Given the description of an element on the screen output the (x, y) to click on. 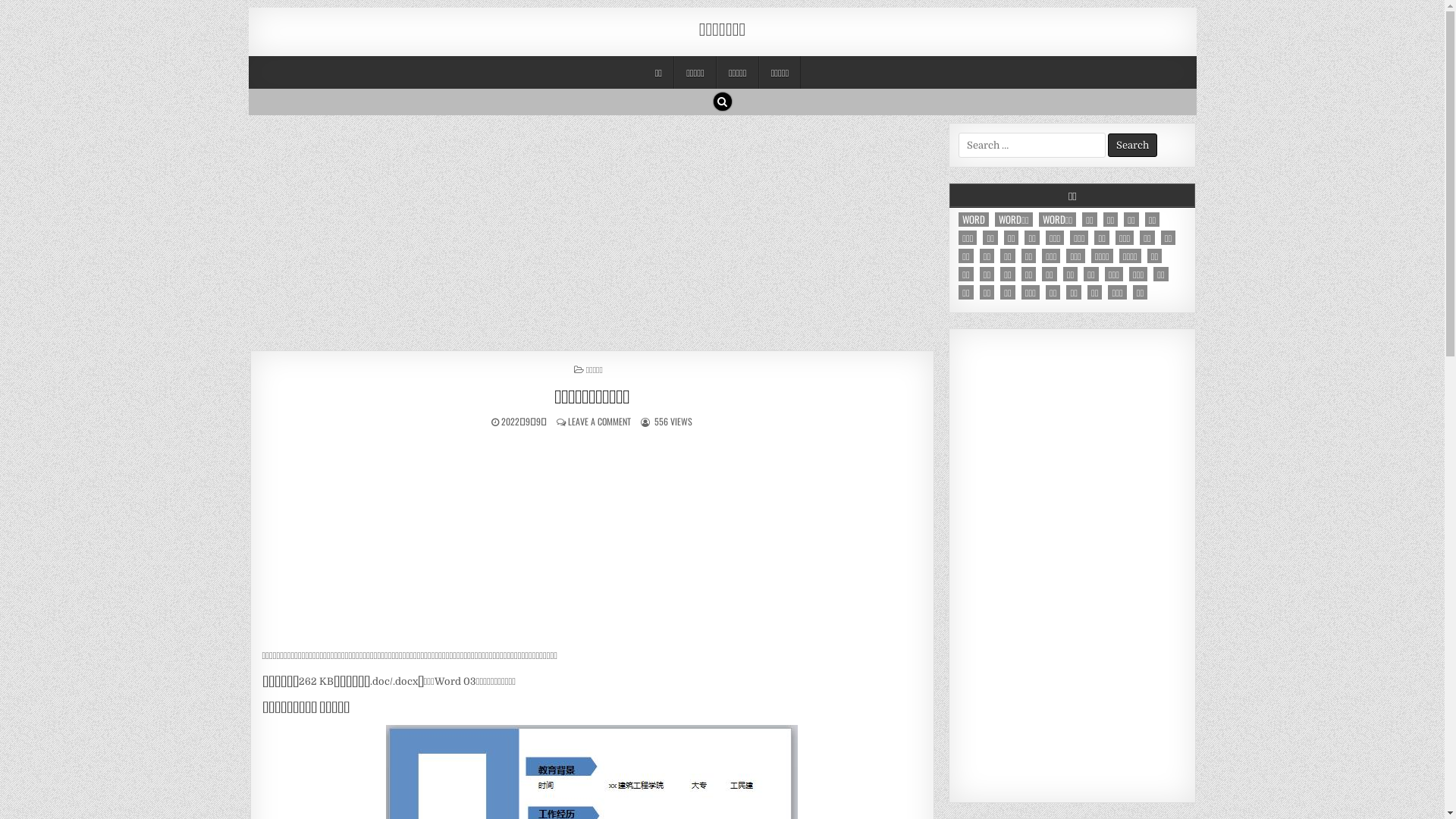
Search Element type: text (1132, 144)
Advertisement Element type: hover (592, 228)
Advertisement Element type: hover (1072, 565)
WORD Element type: text (973, 219)
Search Element type: hover (721, 101)
Advertisement Element type: hover (592, 541)
LEAVE A COMMENT Element type: text (598, 420)
